Given the description of an element on the screen output the (x, y) to click on. 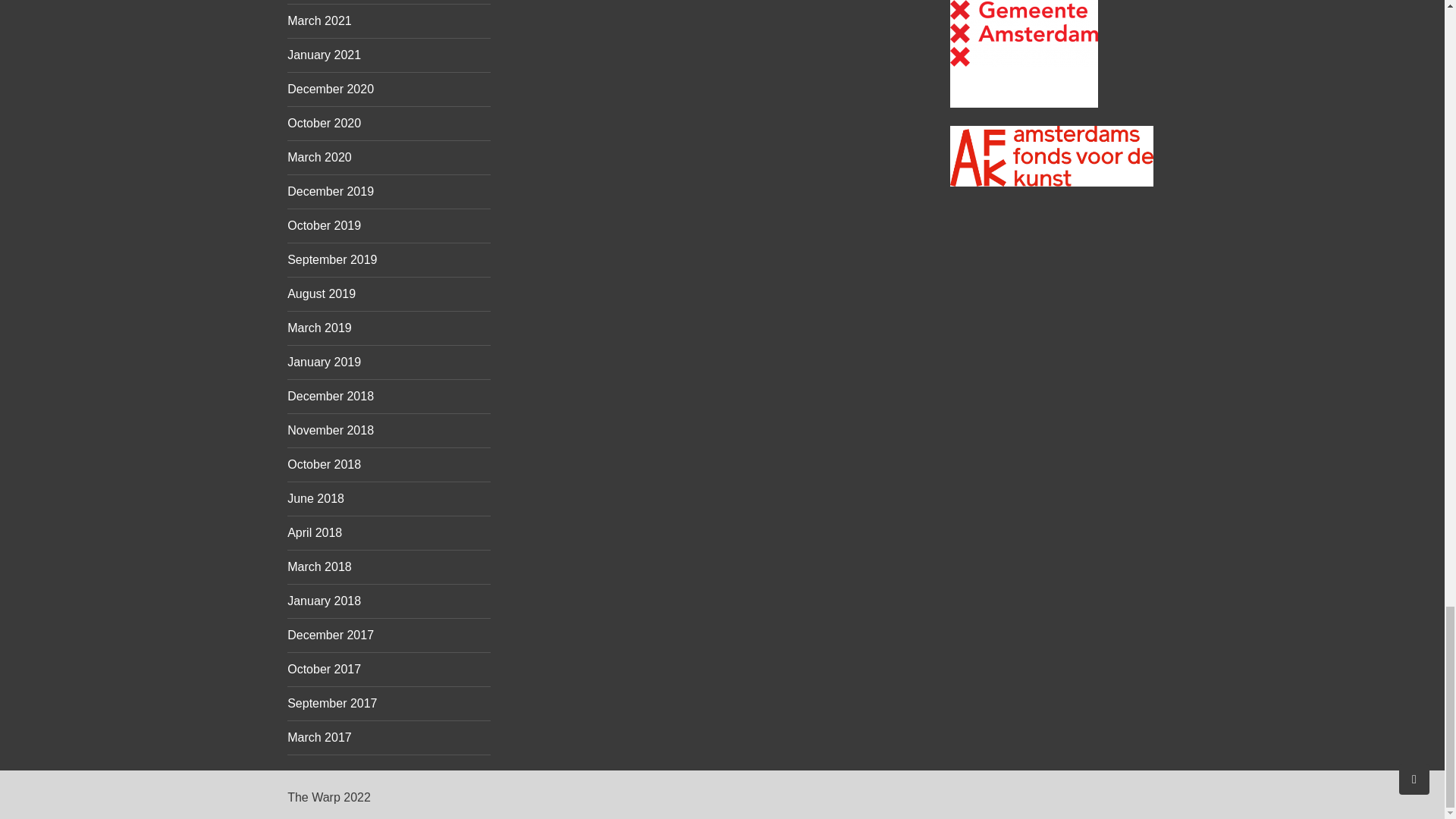
December 2020 (330, 88)
March 2019 (319, 327)
October 2019 (323, 225)
August 2019 (320, 293)
March 2020 (319, 156)
January 2021 (323, 54)
March 2021 (319, 20)
September 2019 (331, 259)
October 2020 (323, 123)
December 2019 (330, 191)
